Given the description of an element on the screen output the (x, y) to click on. 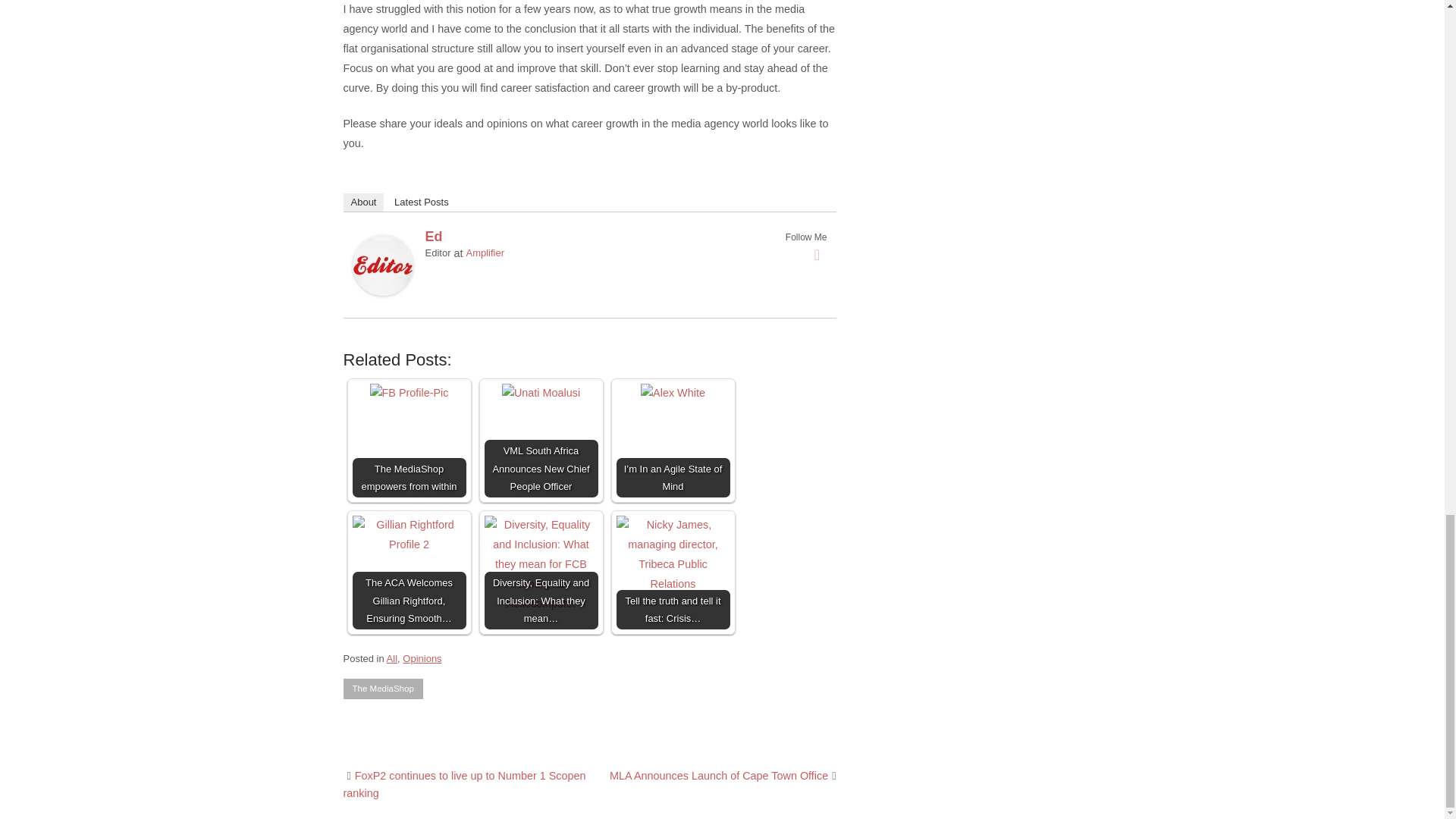
VML South Africa Announces New Chief People Officer (540, 393)
The MediaShop empowers from within (408, 393)
Latest Posts (422, 202)
About (363, 202)
Ed (433, 236)
Twitter (817, 254)
Ed (382, 291)
